Given the description of an element on the screen output the (x, y) to click on. 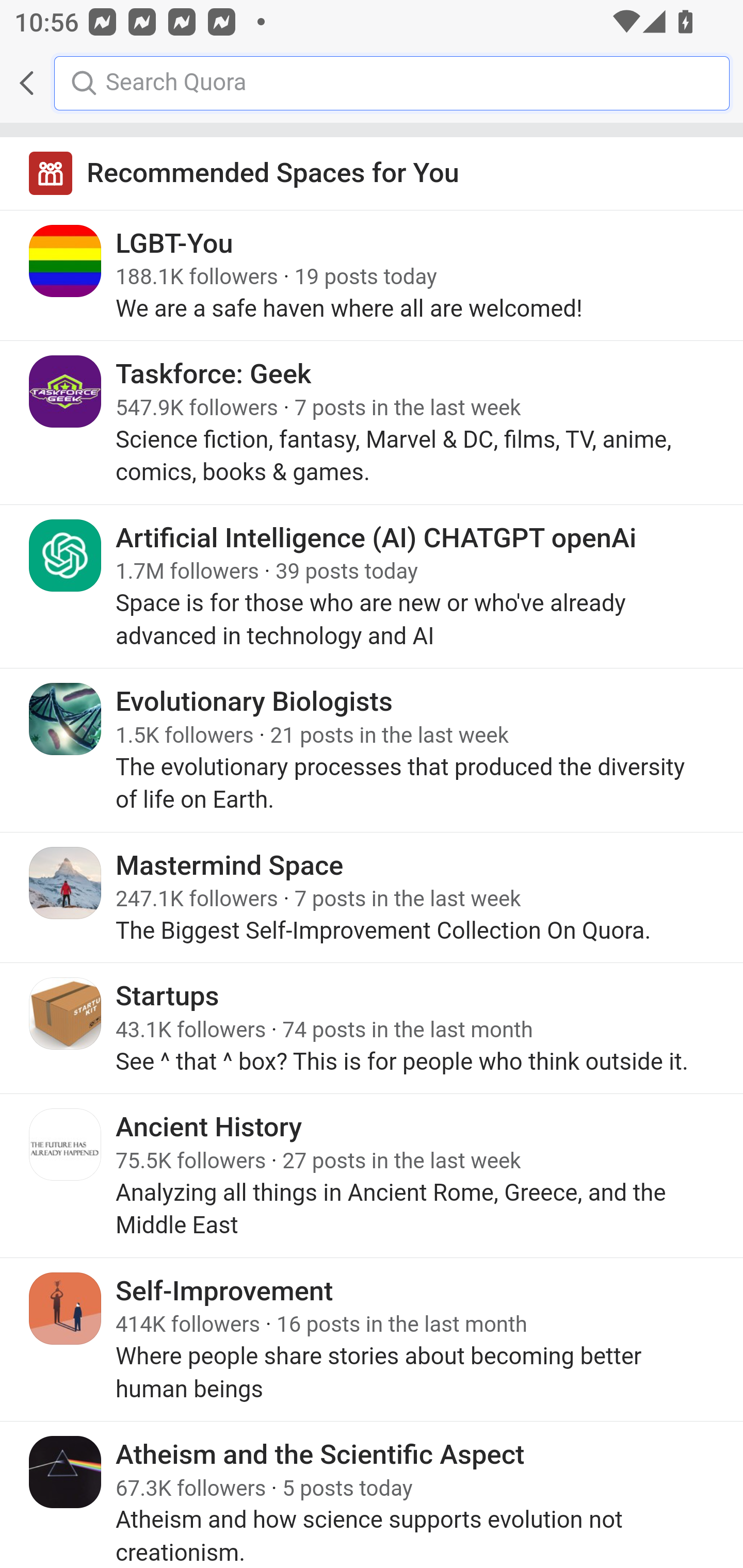
Me Home Search Add (371, 82)
Icon for LGBT-You (65, 260)
Icon for Taskforce: Geek (65, 391)
Icon for Evolutionary Biologists (65, 718)
Icon for Mastermind Space (65, 882)
Icon for Startups (65, 1013)
Icon for Ancient History (65, 1145)
Icon for Self-Improvement (65, 1308)
Icon for Atheism and the Scientific Aspect (65, 1471)
